Given the description of an element on the screen output the (x, y) to click on. 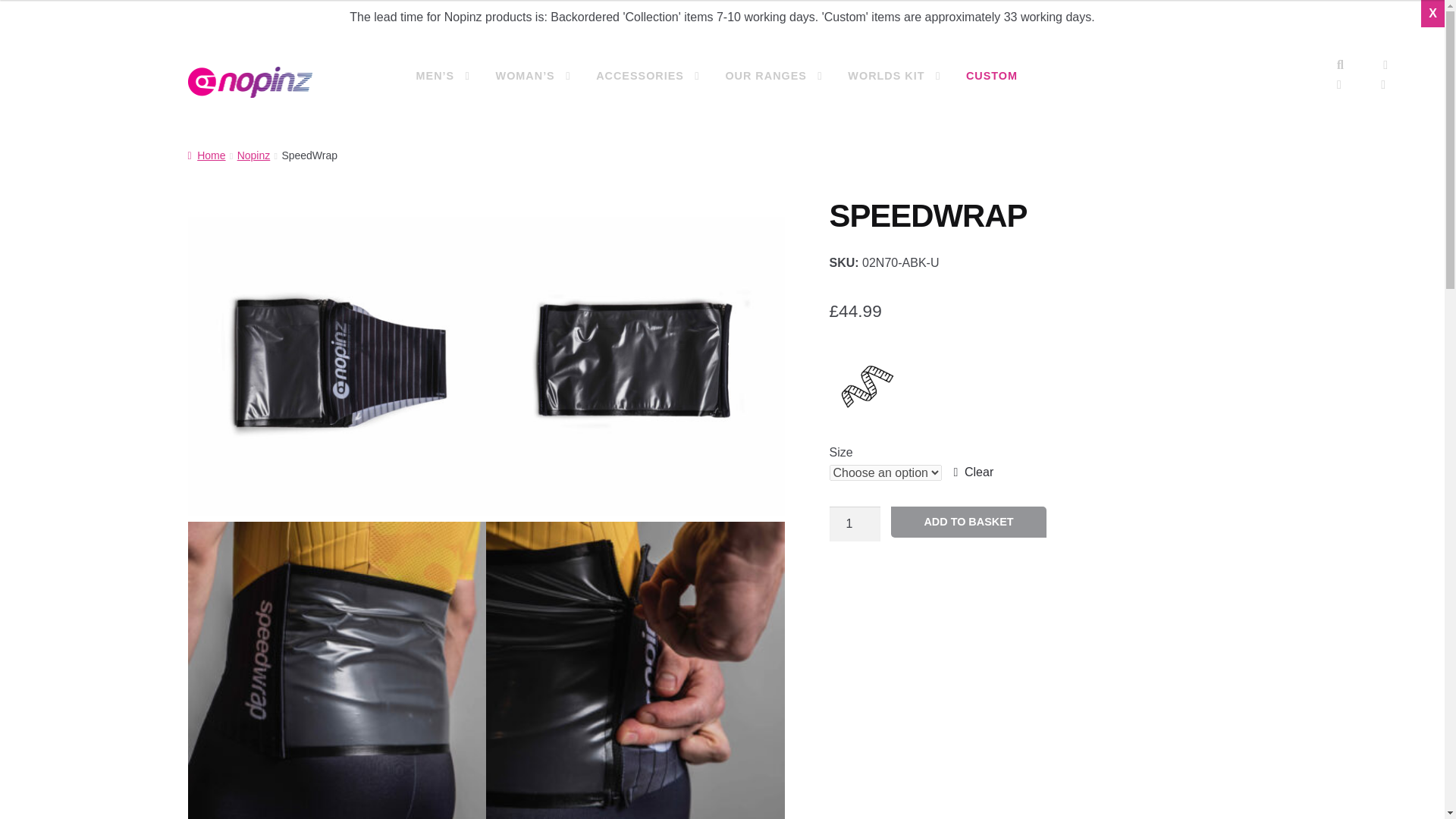
1 (854, 523)
ACCESSORIES (647, 76)
